Given the description of an element on the screen output the (x, y) to click on. 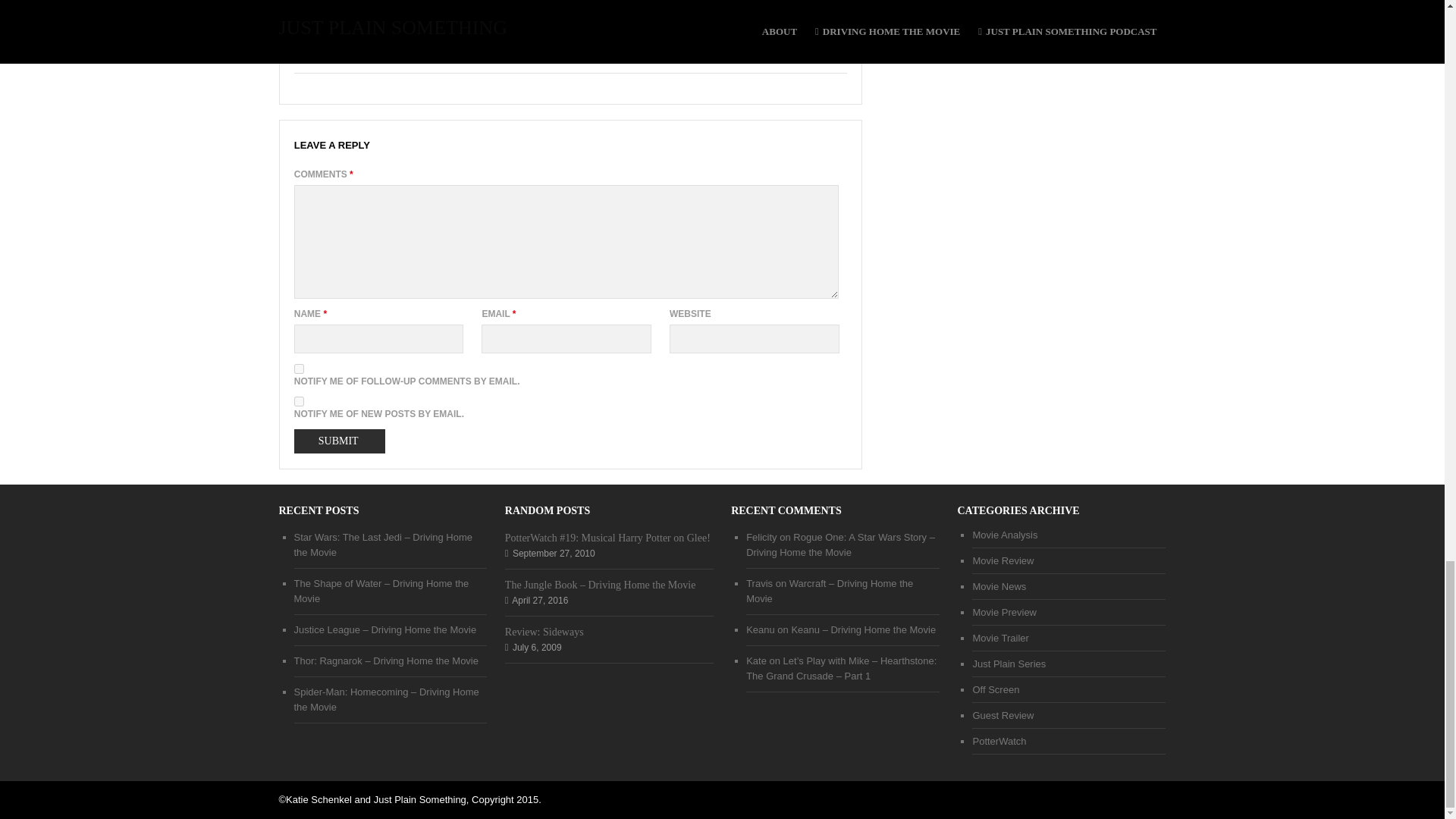
subscribe (299, 368)
Submit  (339, 441)
subscribe (299, 401)
